Given the description of an element on the screen output the (x, y) to click on. 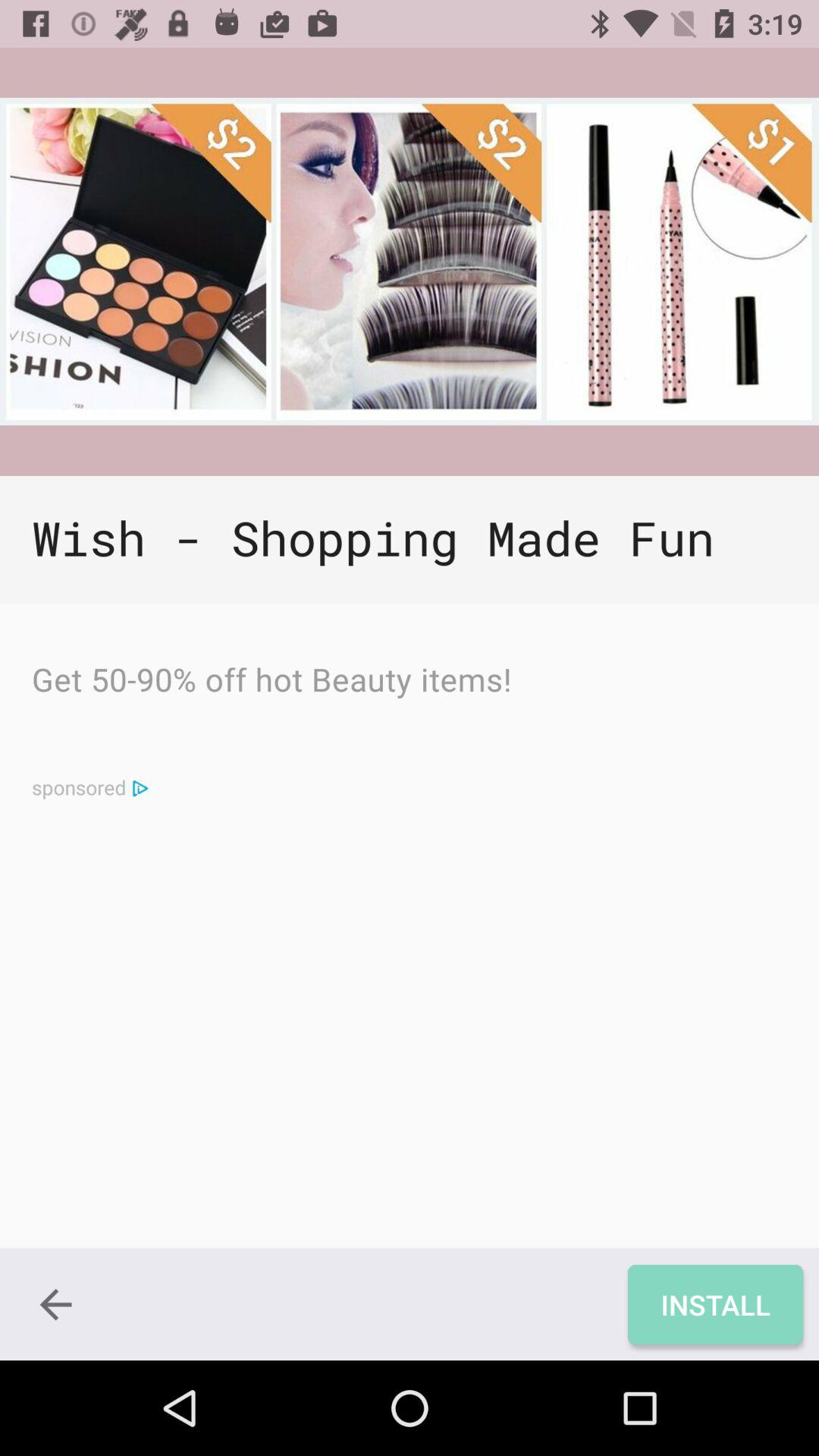
turn off the item above get 50 90 item (409, 540)
